Given the description of an element on the screen output the (x, y) to click on. 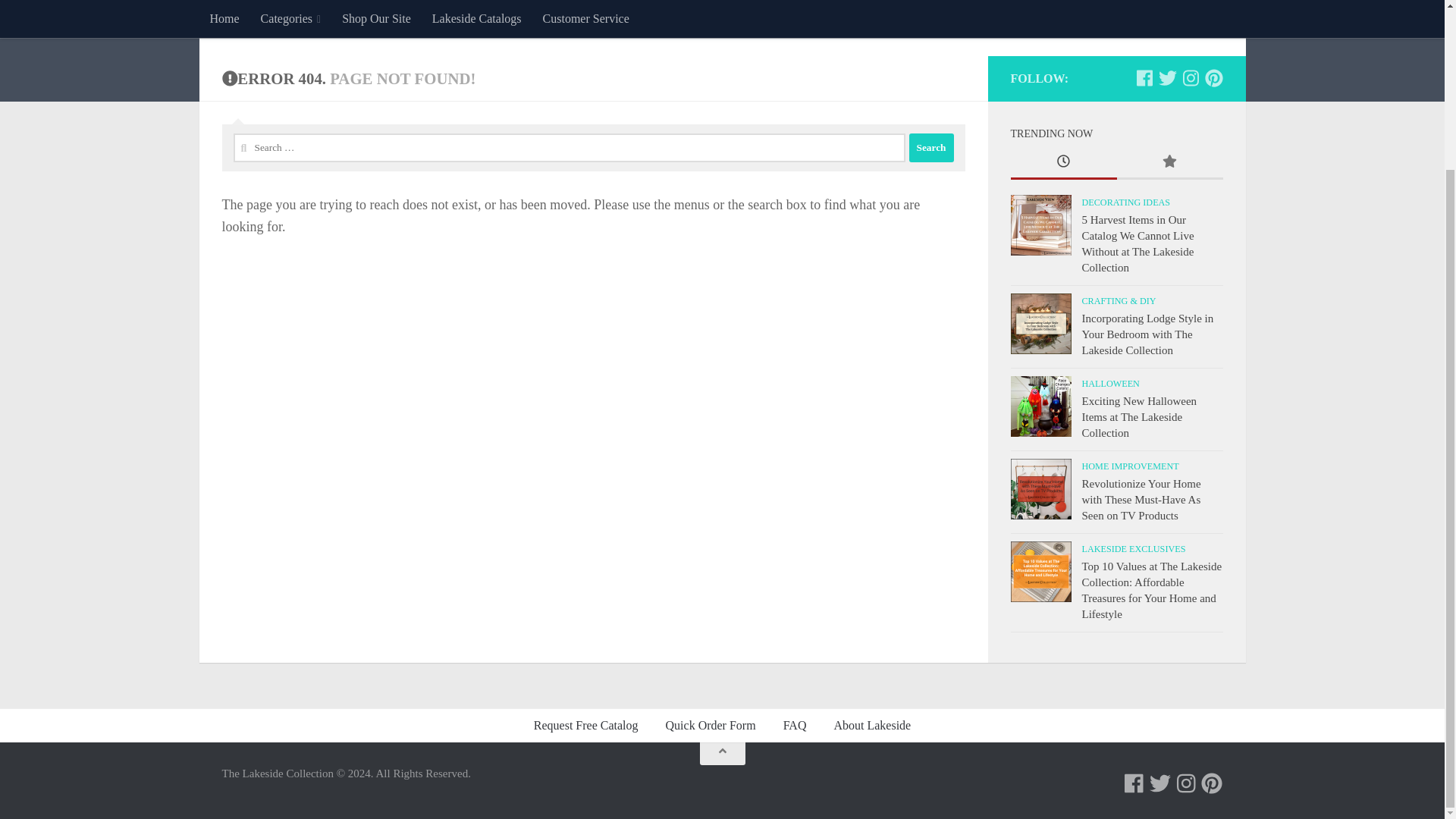
Search (930, 147)
Follow Us On Twitter (1160, 783)
Follow Us On Pinterest (1213, 77)
Follow Us On Twitter (1167, 77)
Follow Us On Pinterest (1212, 783)
Search (930, 147)
Follow Us On Facebook (1133, 783)
Follow Us On Instagram (1185, 783)
Popular Posts (1169, 163)
Recent Posts (1063, 163)
